Given the description of an element on the screen output the (x, y) to click on. 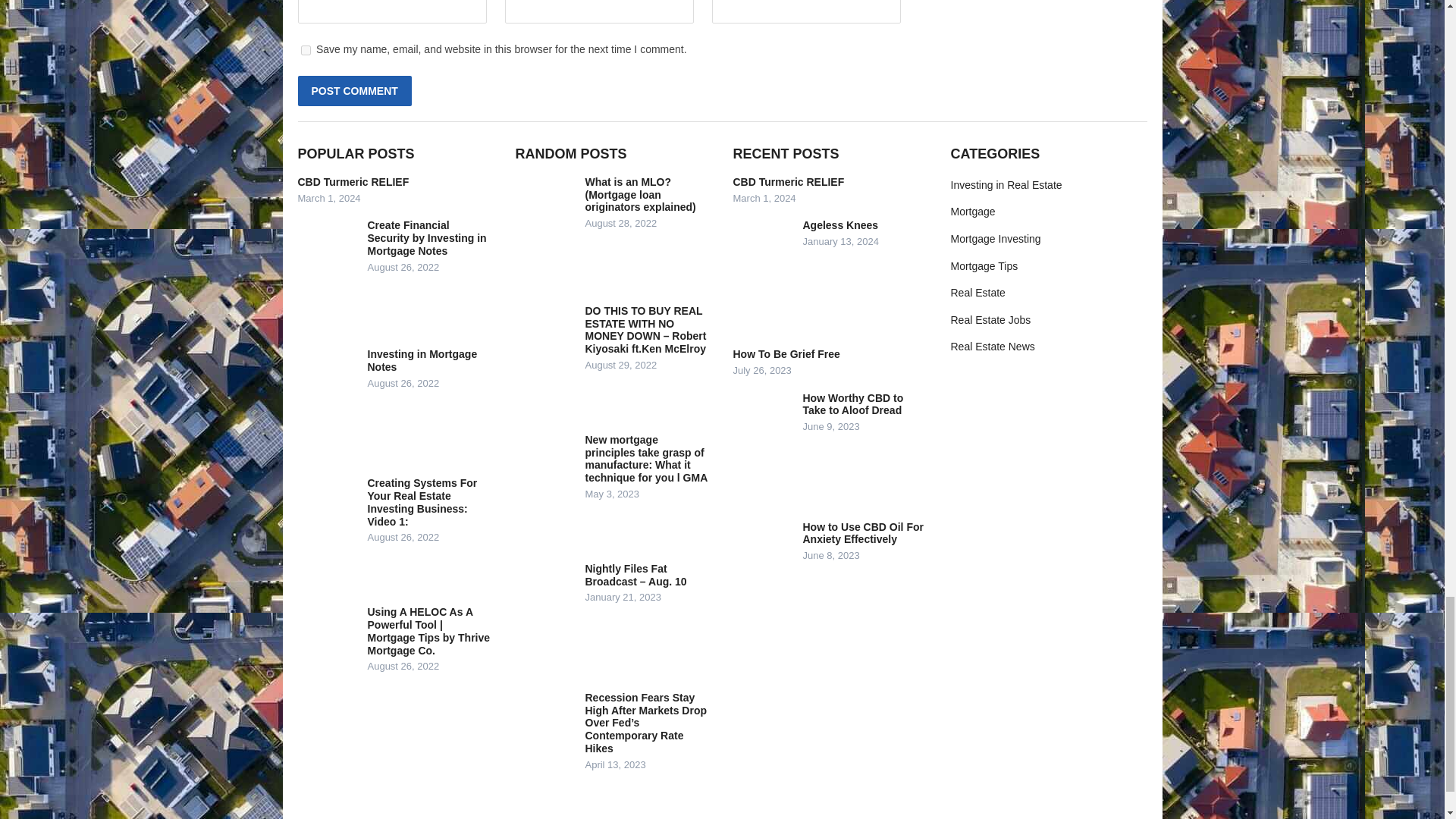
Post Comment (353, 91)
yes (304, 50)
